Given the description of an element on the screen output the (x, y) to click on. 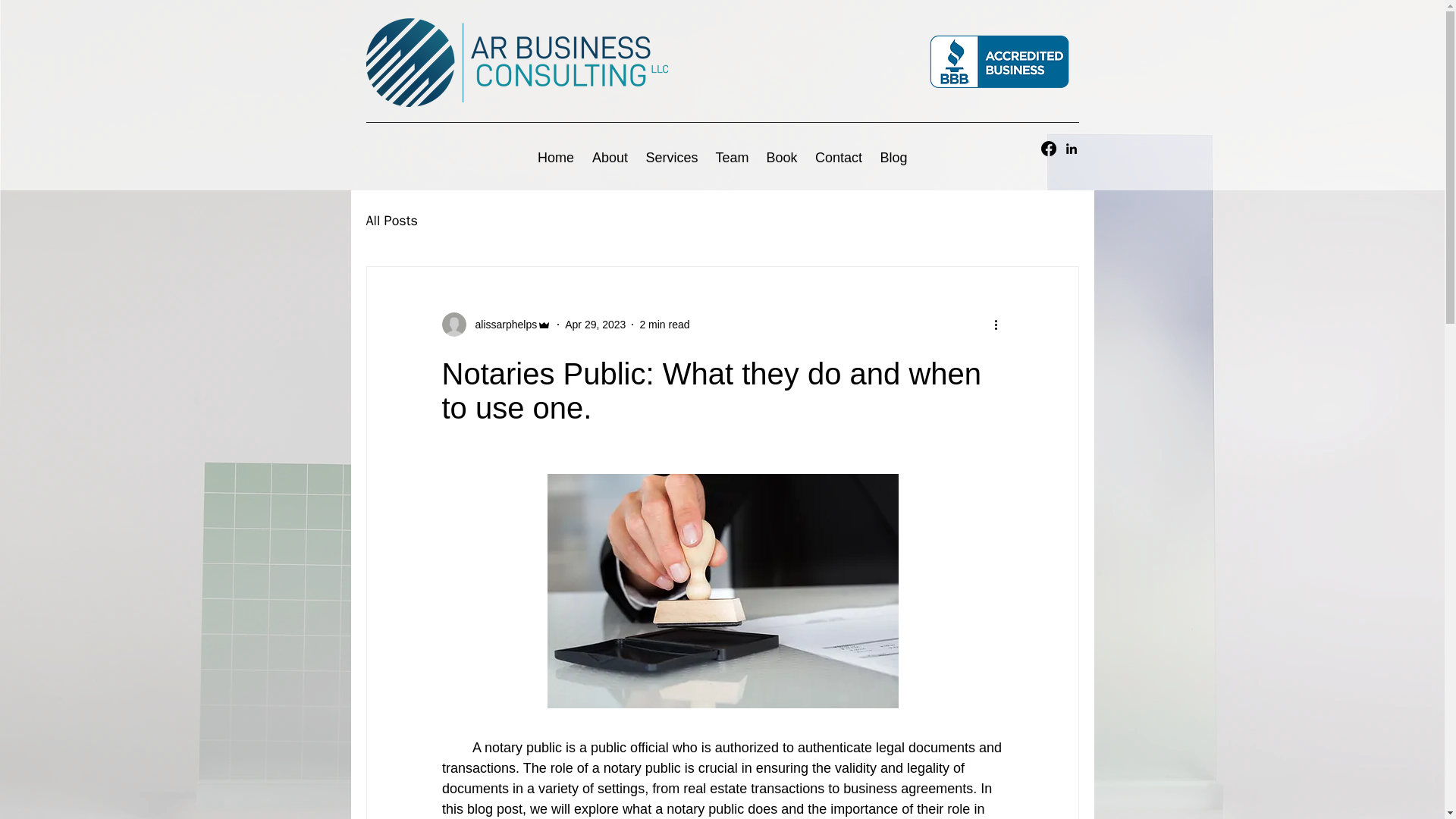
Home (555, 157)
alissarphelps (496, 324)
Contact (838, 157)
Blog (892, 157)
Services (671, 157)
alissarphelps (501, 324)
About (610, 157)
Team (731, 157)
Apr 29, 2023 (595, 324)
Book (781, 157)
